Given the description of an element on the screen output the (x, y) to click on. 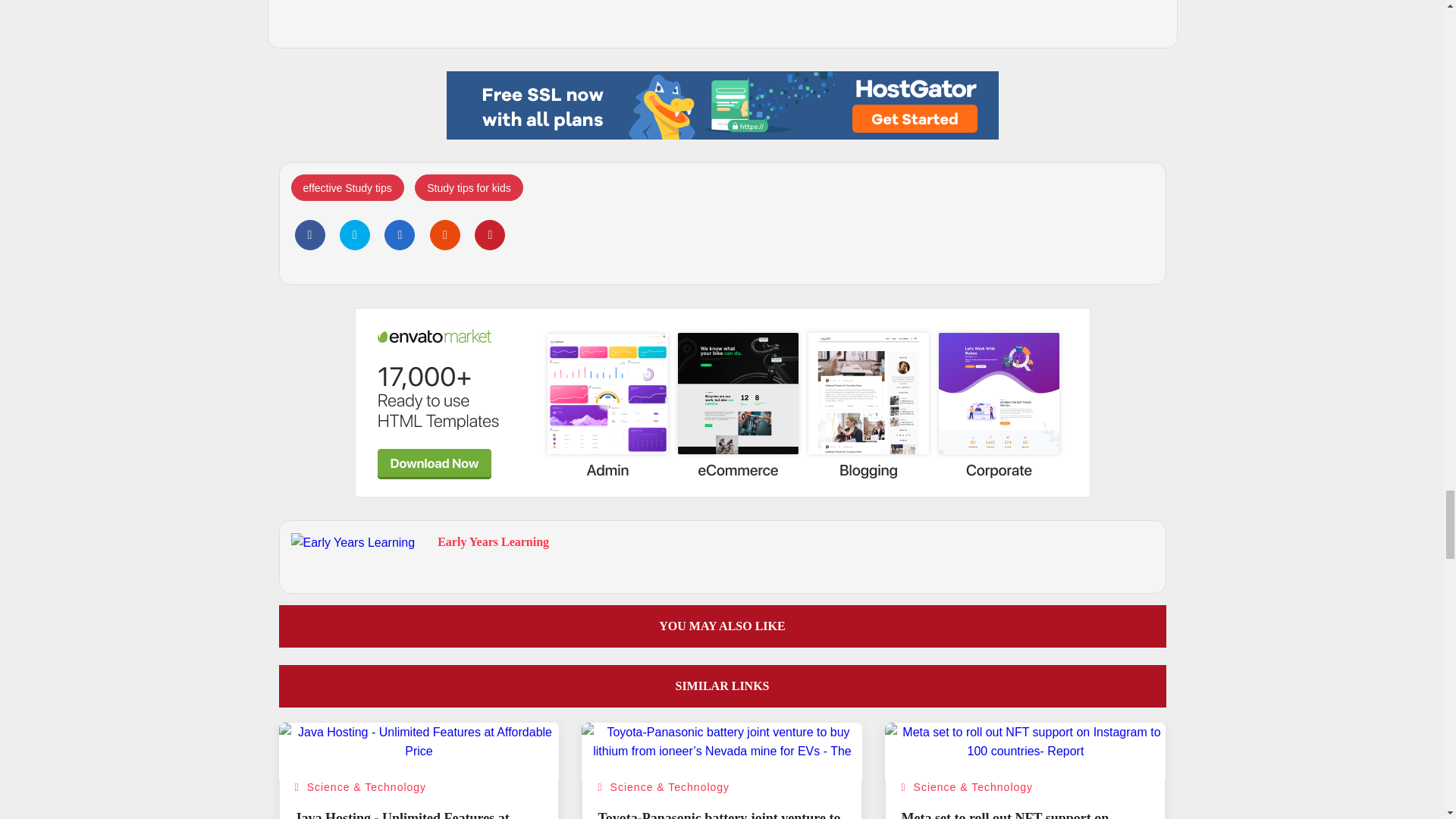
pinterest share - pdfslider (489, 235)
twitter share - pdfslider (354, 235)
Study tips for kids (468, 187)
Early Years Learning (493, 541)
facebook share - pdfslider (309, 235)
Java Hosting - Unlimited Features at Affordable Price (401, 814)
stumbleupon share - pdfslider (444, 235)
effective Study tips (347, 187)
linkedin share - pdfslider (399, 235)
